Given the description of an element on the screen output the (x, y) to click on. 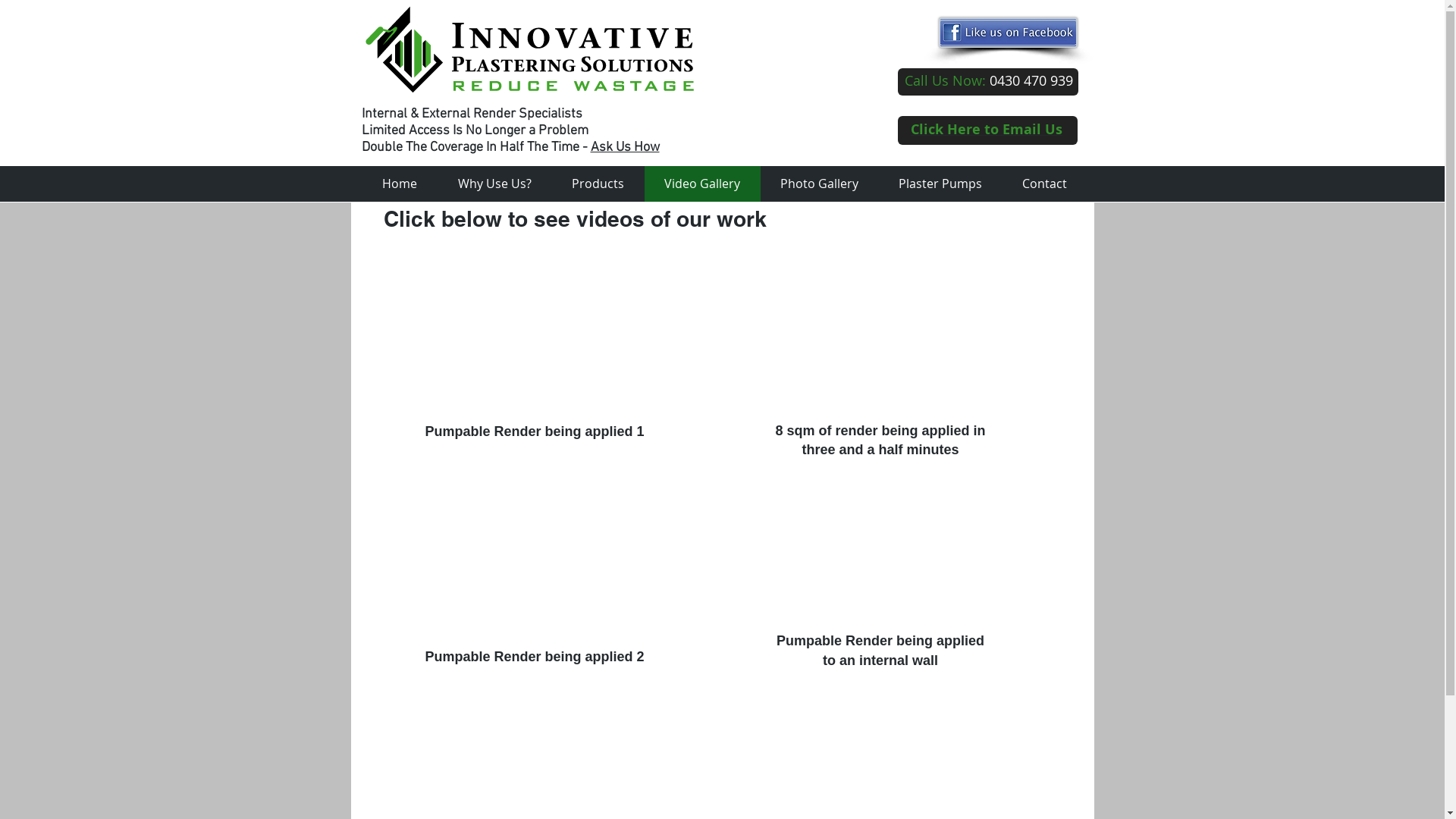
Plaster Pumps Element type: text (939, 183)
External YouTube Element type: hover (879, 337)
Click Here to Email Us Element type: text (986, 128)
Home Element type: text (398, 183)
External YouTube Element type: hover (534, 562)
Contact Element type: text (1044, 183)
Video Gallery Element type: text (702, 183)
fb_like.png Element type: hover (1007, 32)
Why Use Us? Element type: text (493, 183)
External YouTube Element type: hover (877, 546)
External YouTube Element type: hover (534, 337)
Products Element type: text (598, 183)
Photo Gallery Element type: text (818, 183)
Ask Us How Element type: text (623, 147)
